Given the description of an element on the screen output the (x, y) to click on. 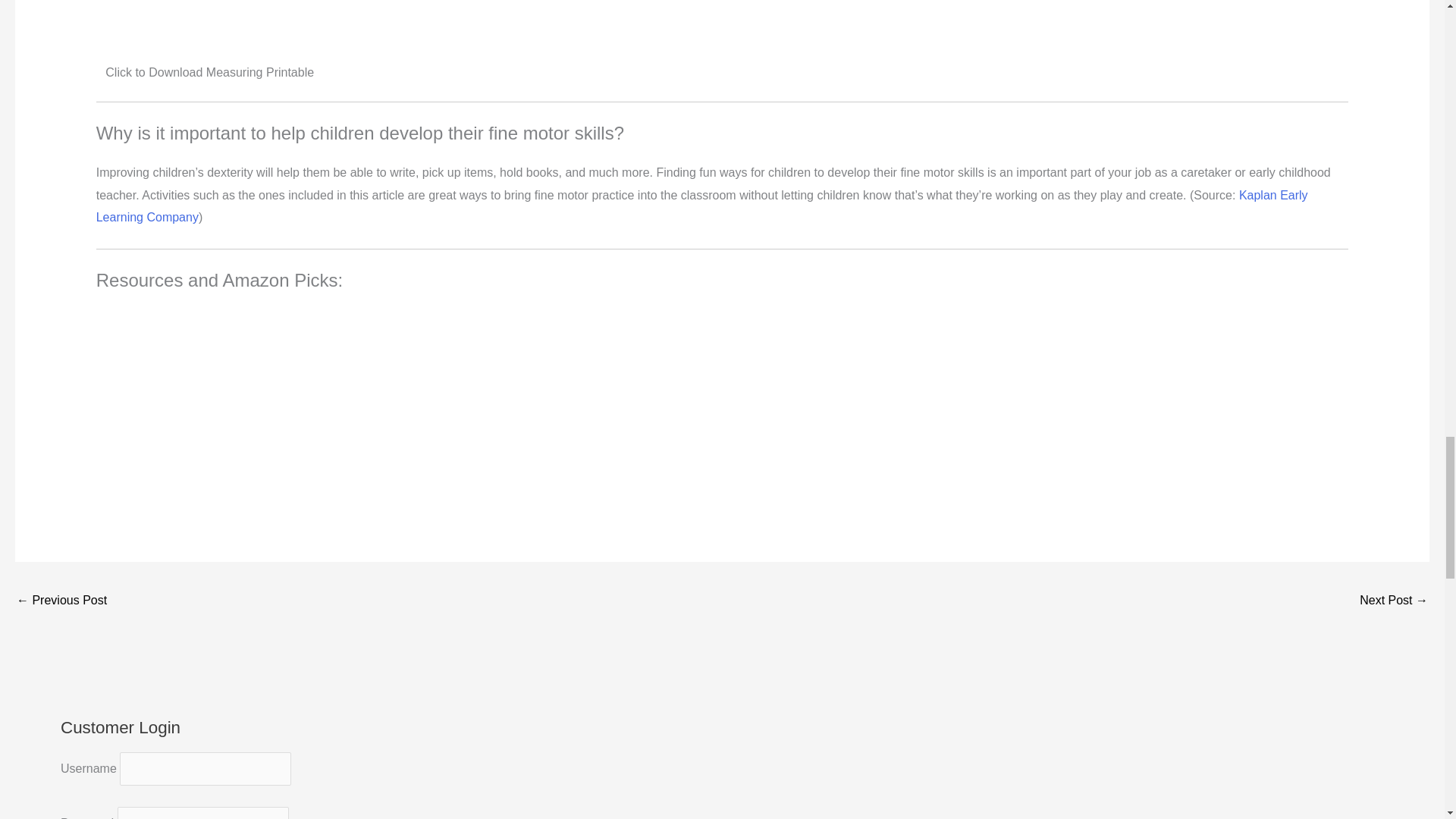
Kaplan Early Learning Company (701, 206)
Popular Early Childhood Music and Movement YouTube Channels (61, 601)
